Given the description of an element on the screen output the (x, y) to click on. 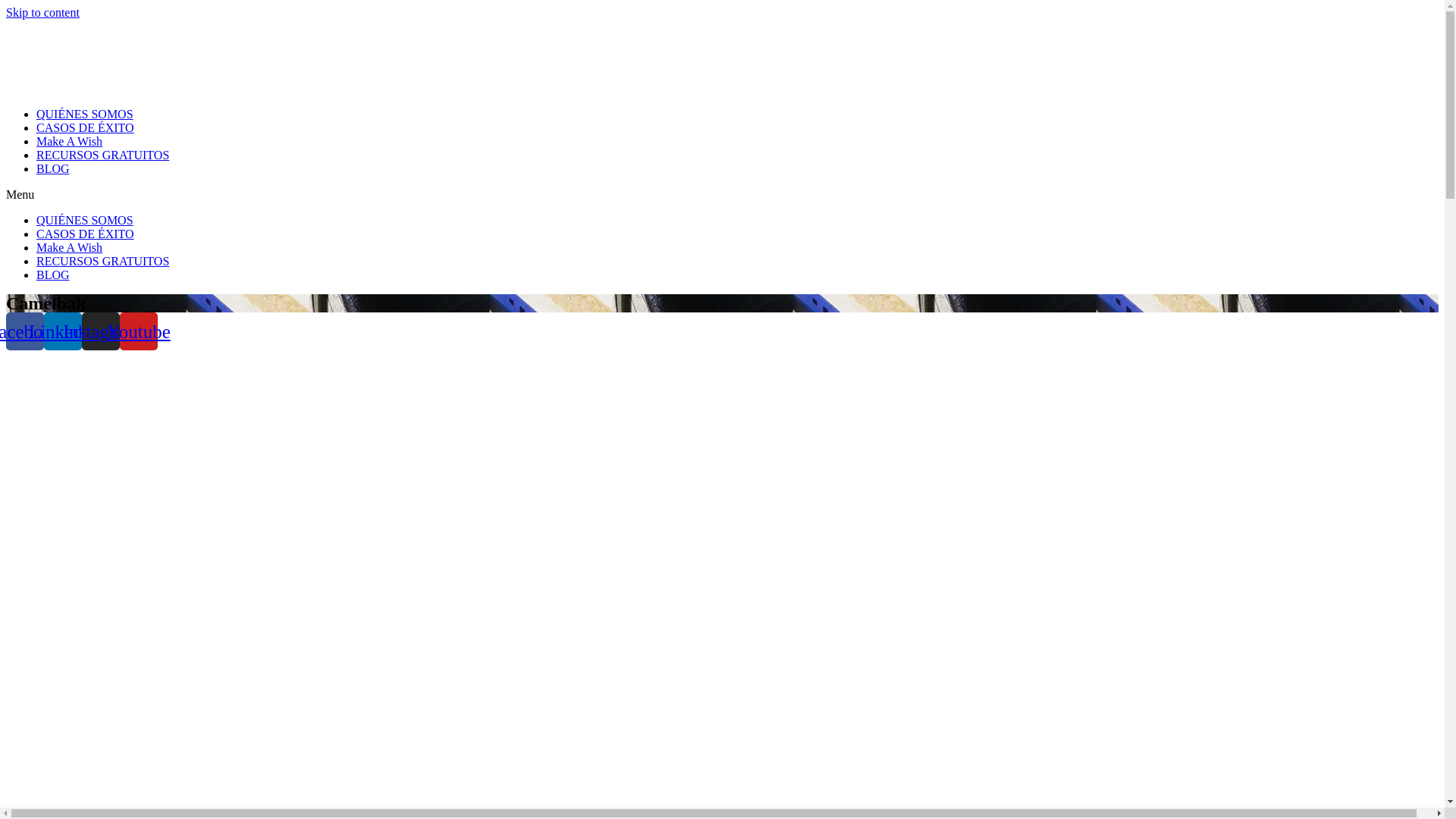
Facebook Element type: text (24, 331)
Youtube Element type: text (138, 331)
Skip to content Element type: text (42, 12)
BLOG Element type: text (52, 274)
Linkedin Element type: text (62, 331)
RECURSOS GRATUITOS Element type: text (102, 260)
Make A Wish Element type: text (69, 247)
Make A Wish Element type: text (69, 140)
BLOG Element type: text (52, 168)
RECURSOS GRATUITOS Element type: text (102, 154)
Instagram Element type: text (100, 331)
